Given the description of an element on the screen output the (x, y) to click on. 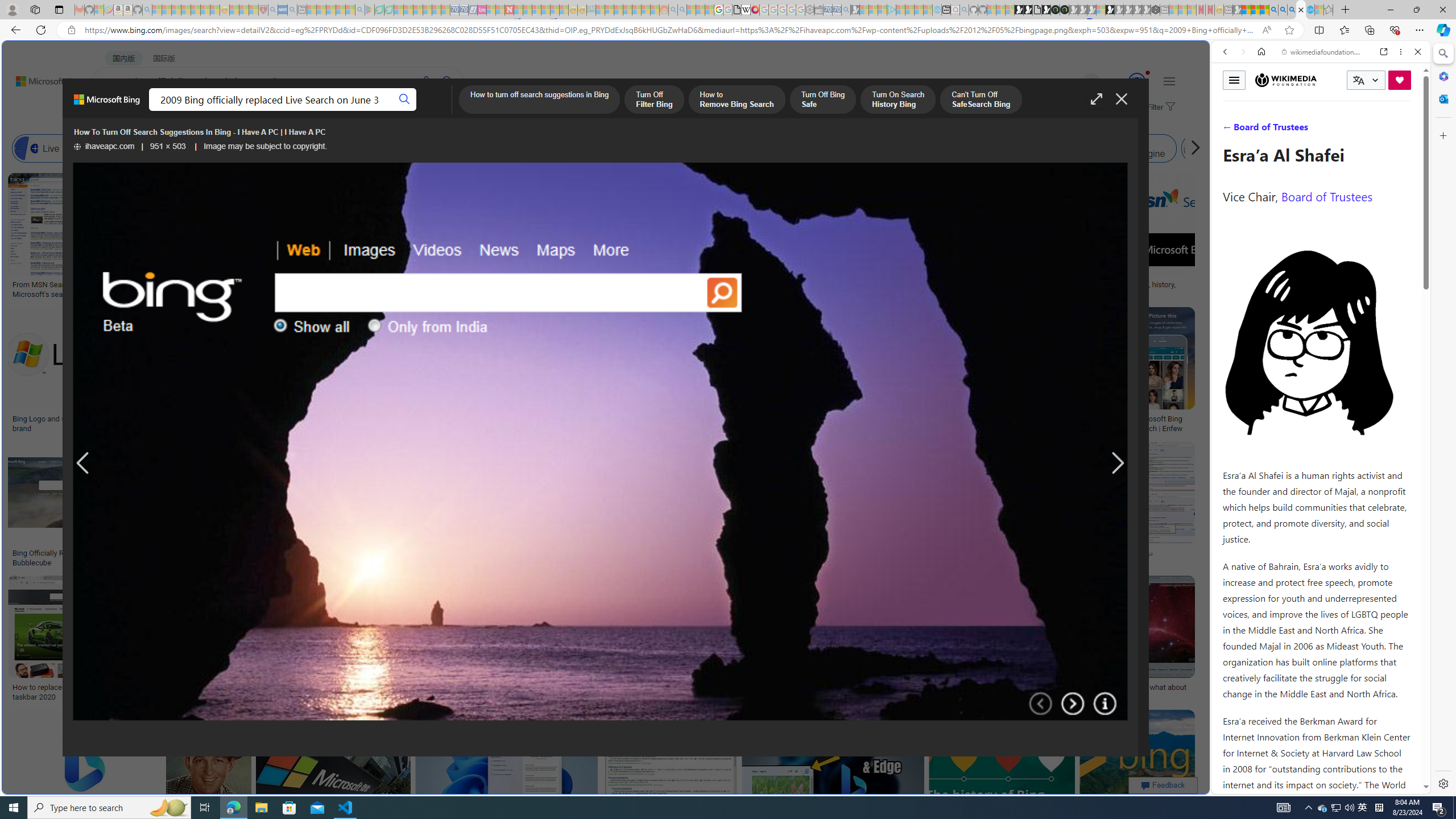
Pets - MSN - Sleeping (340, 9)
Global web icon (1232, 786)
How to turn off search suggestions in Bing (539, 100)
Bing Image Search Similar Images (894, 148)
14 Common Myths Debunked By Scientific Facts - Sleeping (527, 9)
Remove the 'News & Interests' bar from Bing | TechLife (857, 419)
